Given the description of an element on the screen output the (x, y) to click on. 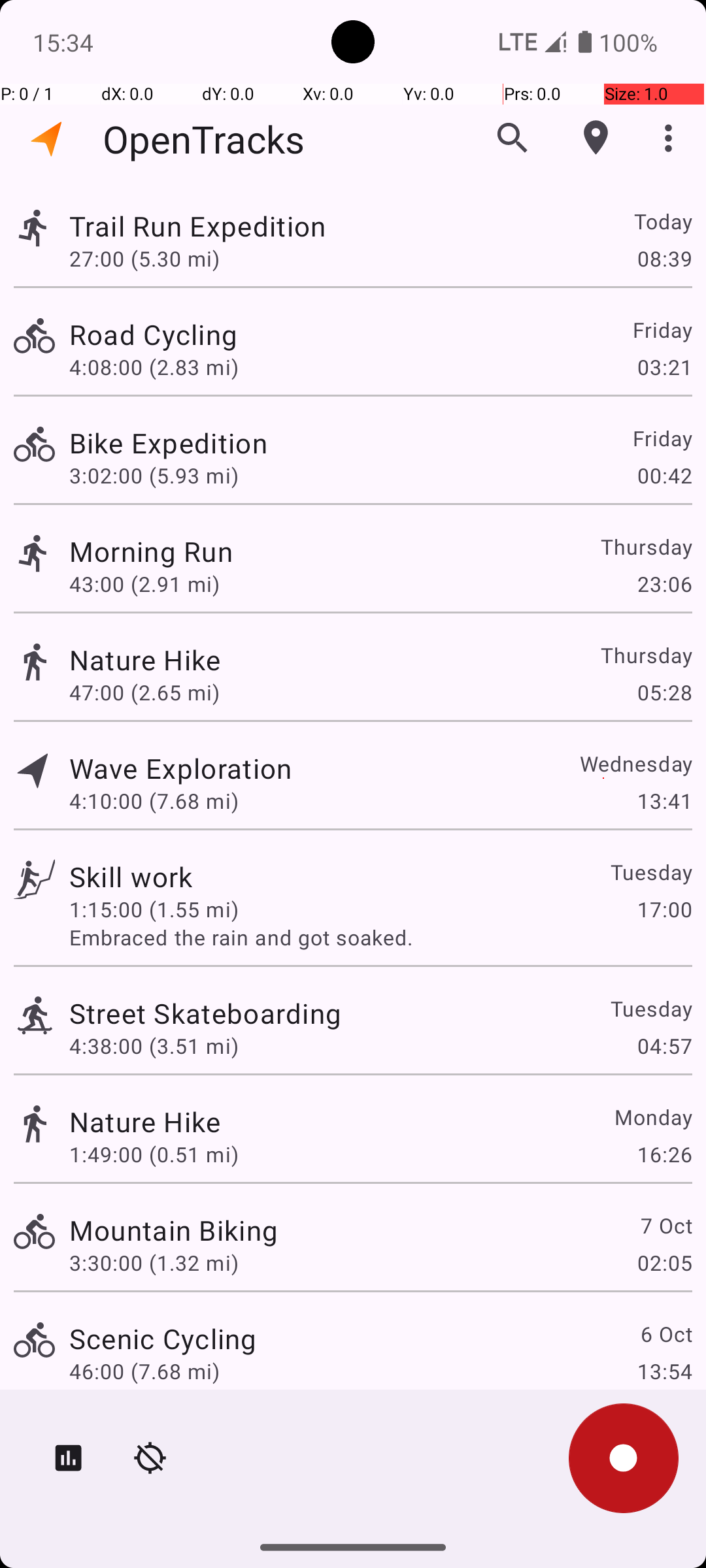
Trail Run Expedition Element type: android.widget.TextView (197, 225)
27:00 (5.30 mi) Element type: android.widget.TextView (144, 258)
08:39 Element type: android.widget.TextView (664, 258)
Road Cycling Element type: android.widget.TextView (152, 333)
4:08:00 (2.83 mi) Element type: android.widget.TextView (153, 366)
03:21 Element type: android.widget.TextView (664, 366)
Bike Expedition Element type: android.widget.TextView (168, 442)
3:02:00 (5.93 mi) Element type: android.widget.TextView (153, 475)
00:42 Element type: android.widget.TextView (664, 475)
Morning Run Element type: android.widget.TextView (150, 550)
43:00 (2.91 mi) Element type: android.widget.TextView (144, 583)
23:06 Element type: android.widget.TextView (664, 583)
Nature Hike Element type: android.widget.TextView (144, 659)
47:00 (2.65 mi) Element type: android.widget.TextView (144, 692)
05:28 Element type: android.widget.TextView (664, 692)
Wave Exploration Element type: android.widget.TextView (180, 767)
4:10:00 (7.68 mi) Element type: android.widget.TextView (153, 800)
13:41 Element type: android.widget.TextView (664, 800)
Skill work Element type: android.widget.TextView (130, 876)
1:15:00 (1.55 mi) Element type: android.widget.TextView (153, 909)
Embraced the rain and got soaked. Element type: android.widget.TextView (380, 937)
Street Skateboarding Element type: android.widget.TextView (204, 1012)
4:38:00 (3.51 mi) Element type: android.widget.TextView (153, 1045)
04:57 Element type: android.widget.TextView (664, 1045)
1:49:00 (0.51 mi) Element type: android.widget.TextView (153, 1154)
16:26 Element type: android.widget.TextView (664, 1154)
Mountain Biking Element type: android.widget.TextView (173, 1229)
3:30:00 (1.32 mi) Element type: android.widget.TextView (153, 1262)
02:05 Element type: android.widget.TextView (664, 1262)
Scenic Cycling Element type: android.widget.TextView (162, 1337)
6 Oct Element type: android.widget.TextView (665, 1333)
46:00 (7.68 mi) Element type: android.widget.TextView (144, 1370)
13:54 Element type: android.widget.TextView (664, 1370)
